Given the description of an element on the screen output the (x, y) to click on. 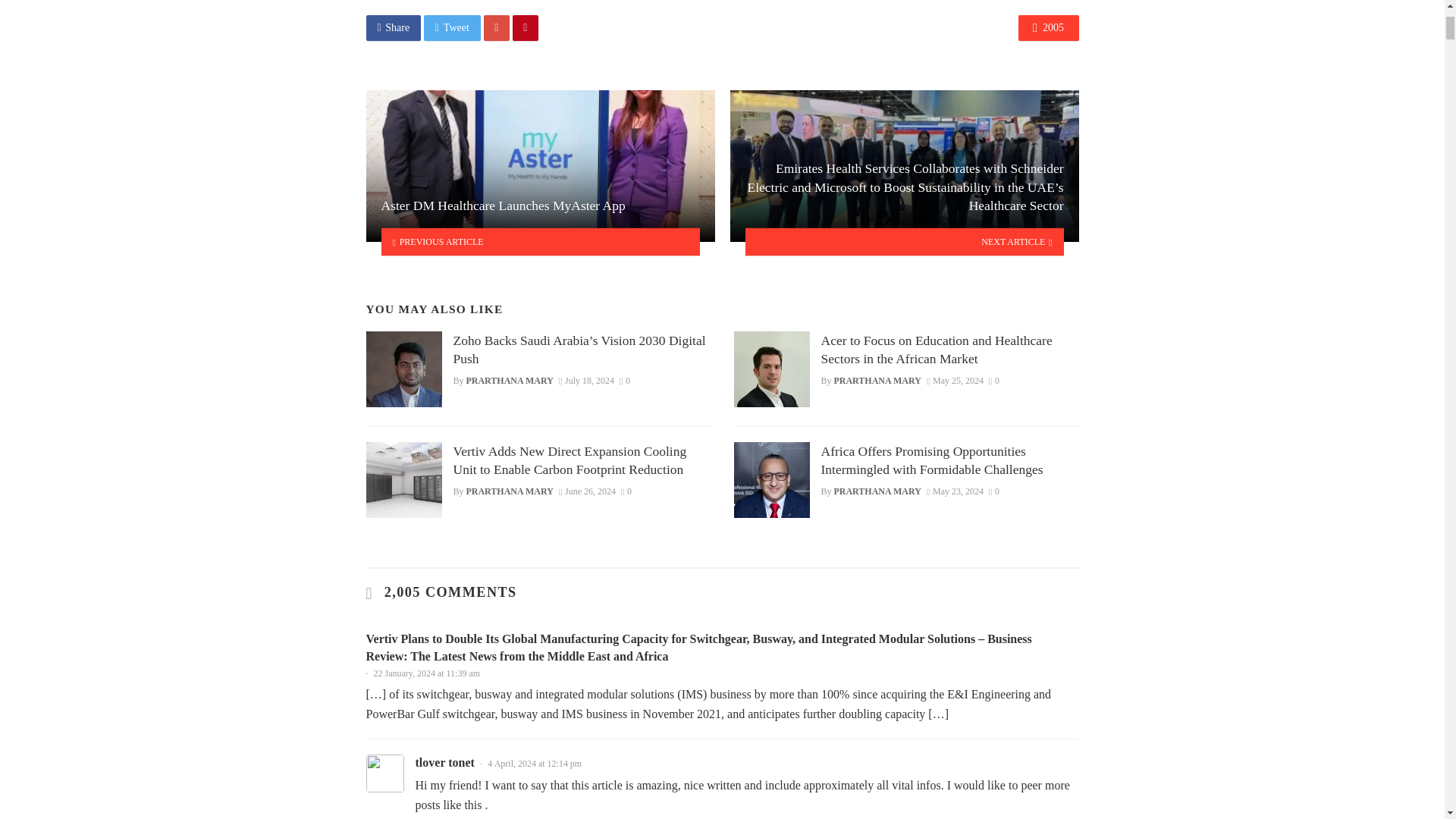
July 18, 2024 at 12:57 pm (586, 380)
Share (392, 27)
Tweet (451, 27)
